Given the description of an element on the screen output the (x, y) to click on. 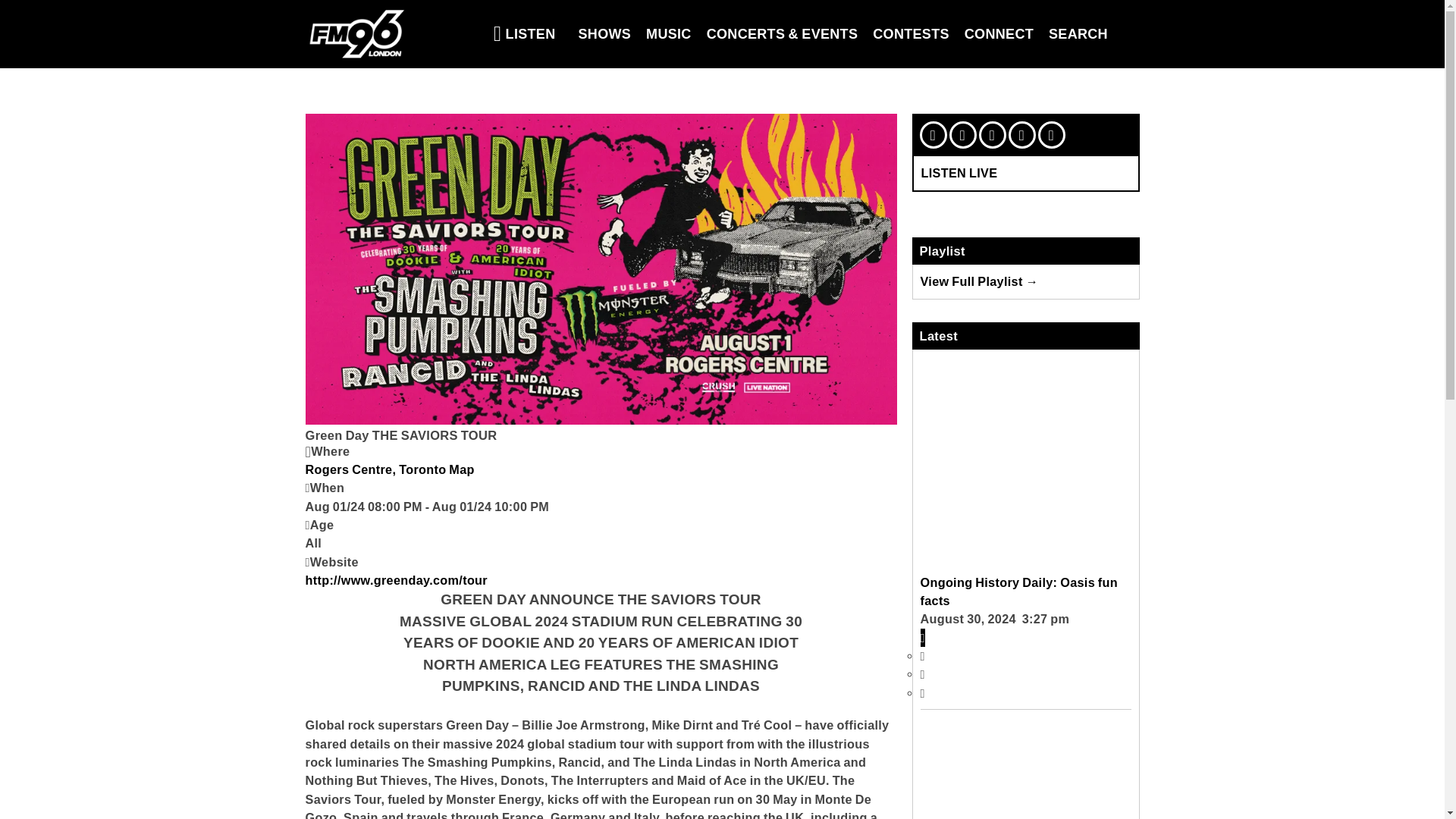
LISTEN (524, 33)
Rogers Centre, Toronto (376, 468)
MUSIC (668, 33)
CONTESTS (910, 33)
SHOWS (604, 33)
SEARCH (1078, 33)
CONNECT (998, 33)
Map (461, 468)
